Given the description of an element on the screen output the (x, y) to click on. 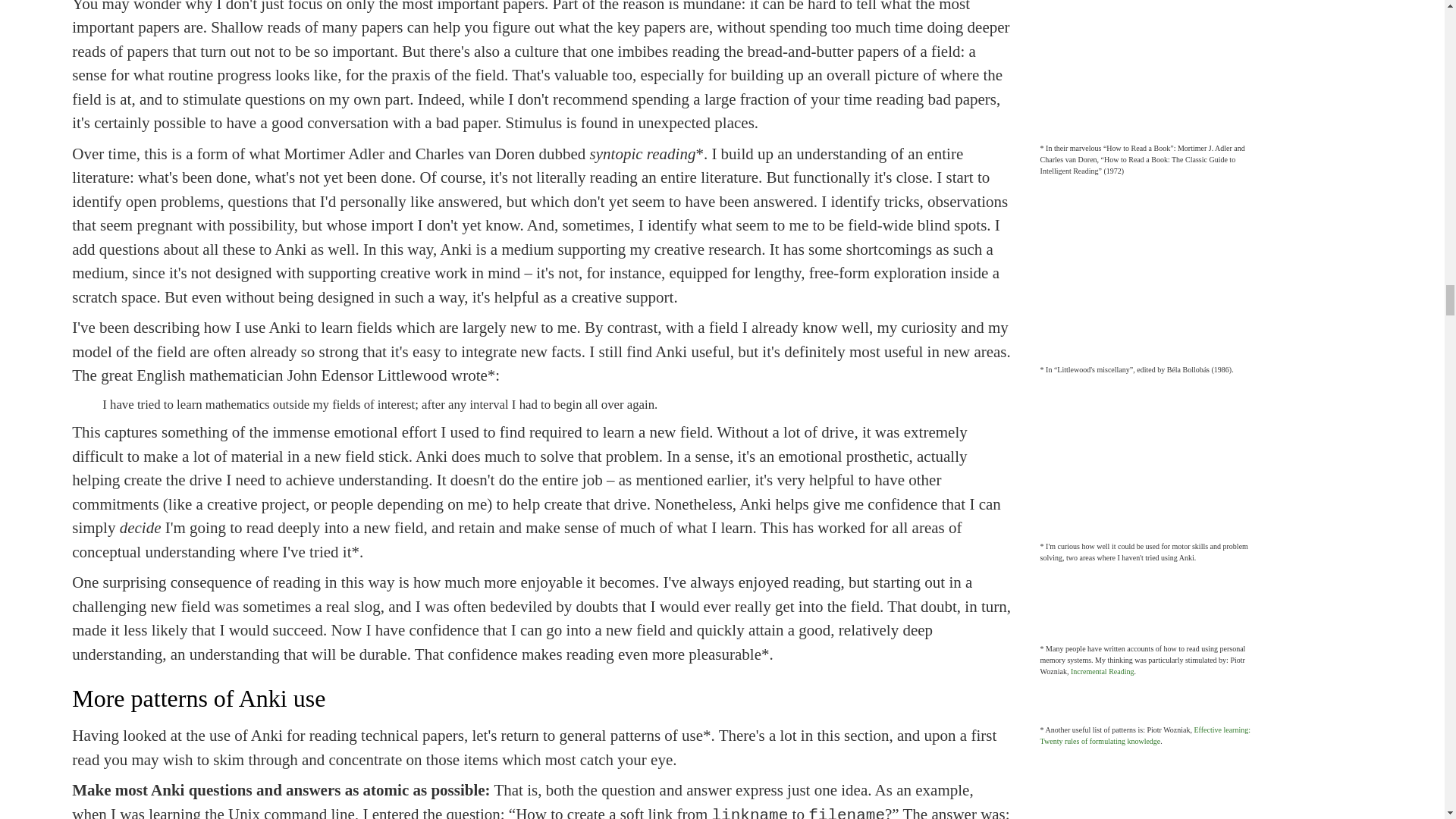
Effective learning: Twenty rules of formulating knowledge (1145, 735)
Incremental Reading (1102, 671)
